Given the description of an element on the screen output the (x, y) to click on. 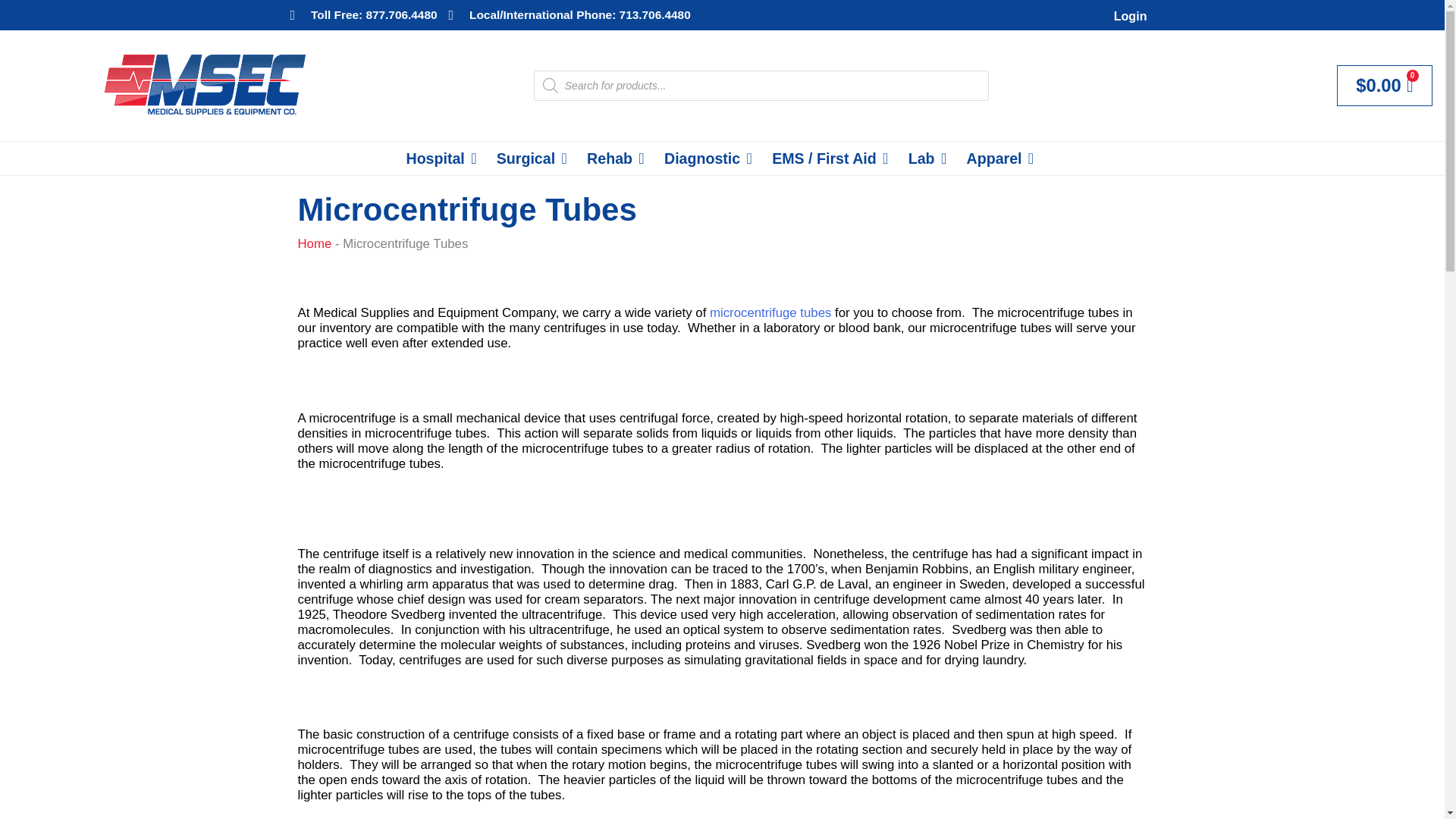
Surgical (525, 158)
Login (1130, 15)
Toll Free: 877.706.4480 (362, 14)
Hospital (435, 158)
